Given the description of an element on the screen output the (x, y) to click on. 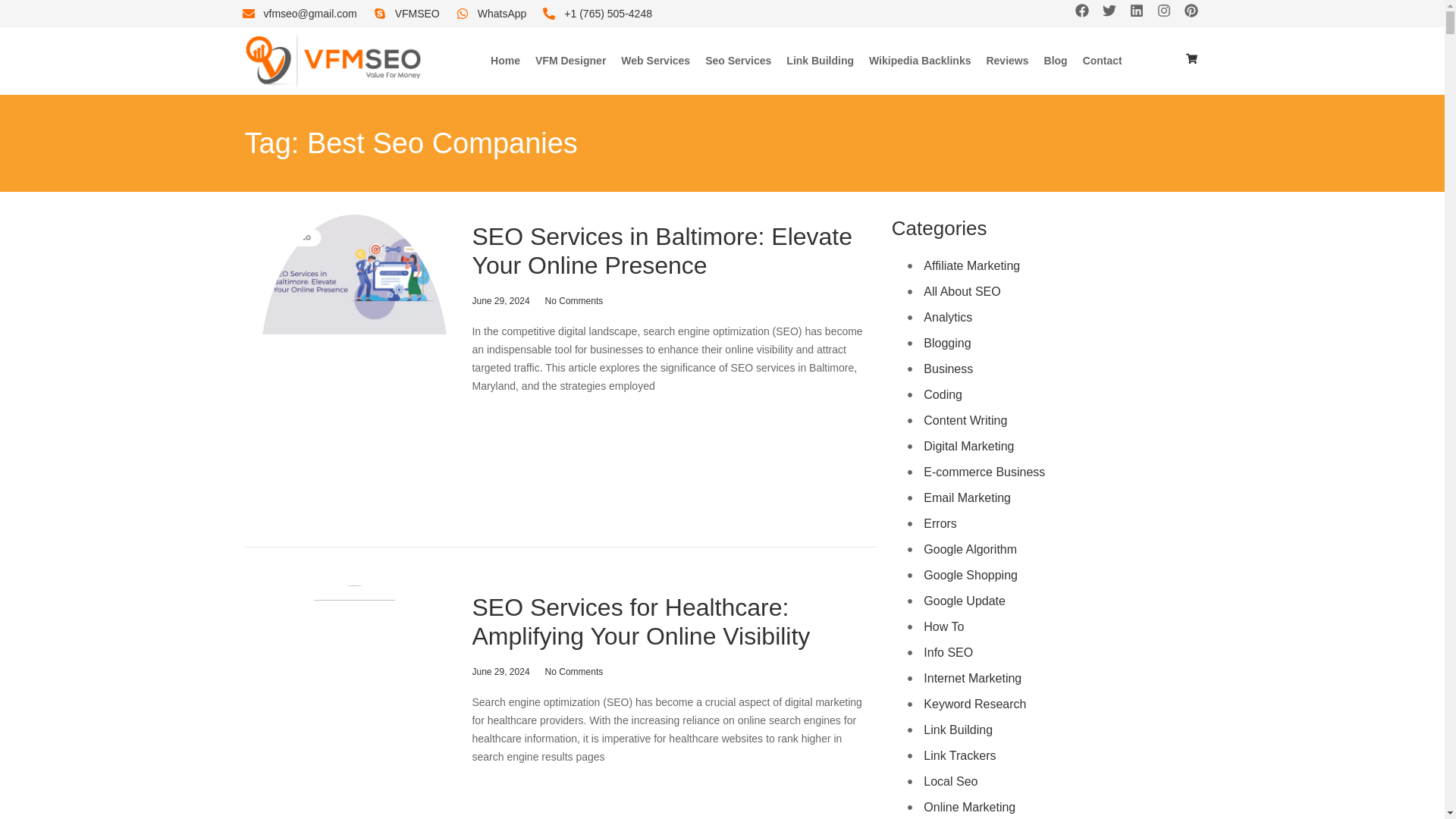
Home (504, 60)
Seo Services (737, 60)
WhatsApp (490, 13)
Link Building (819, 60)
Web Services (655, 60)
VFMSEO (405, 13)
VFM Designer (570, 60)
